Given the description of an element on the screen output the (x, y) to click on. 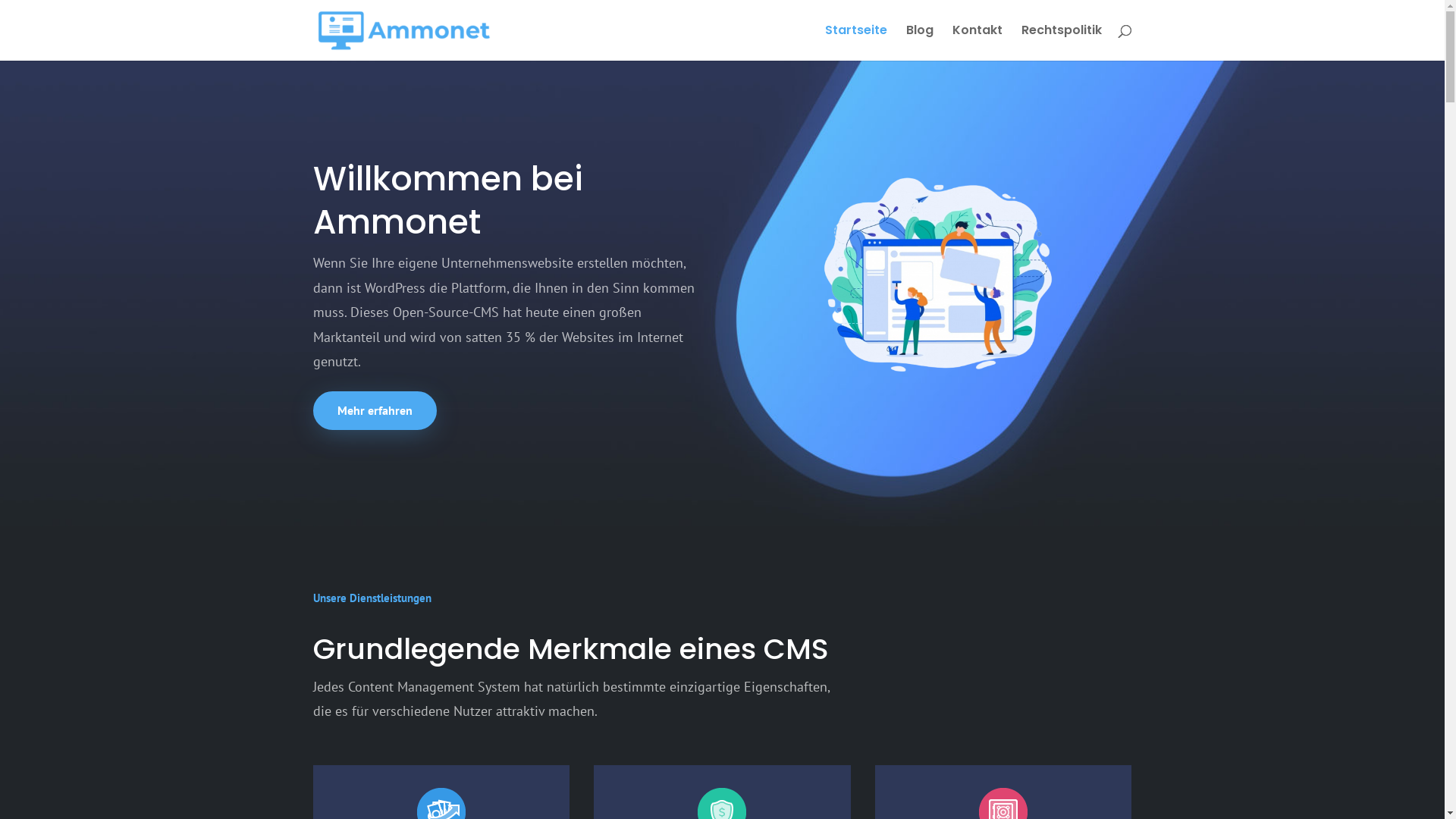
Mehr erfahren Element type: text (374, 410)
Rechtspolitik Element type: text (1060, 42)
Blog Element type: text (918, 42)
Kontakt Element type: text (977, 42)
Startseite Element type: text (856, 42)
